Given the description of an element on the screen output the (x, y) to click on. 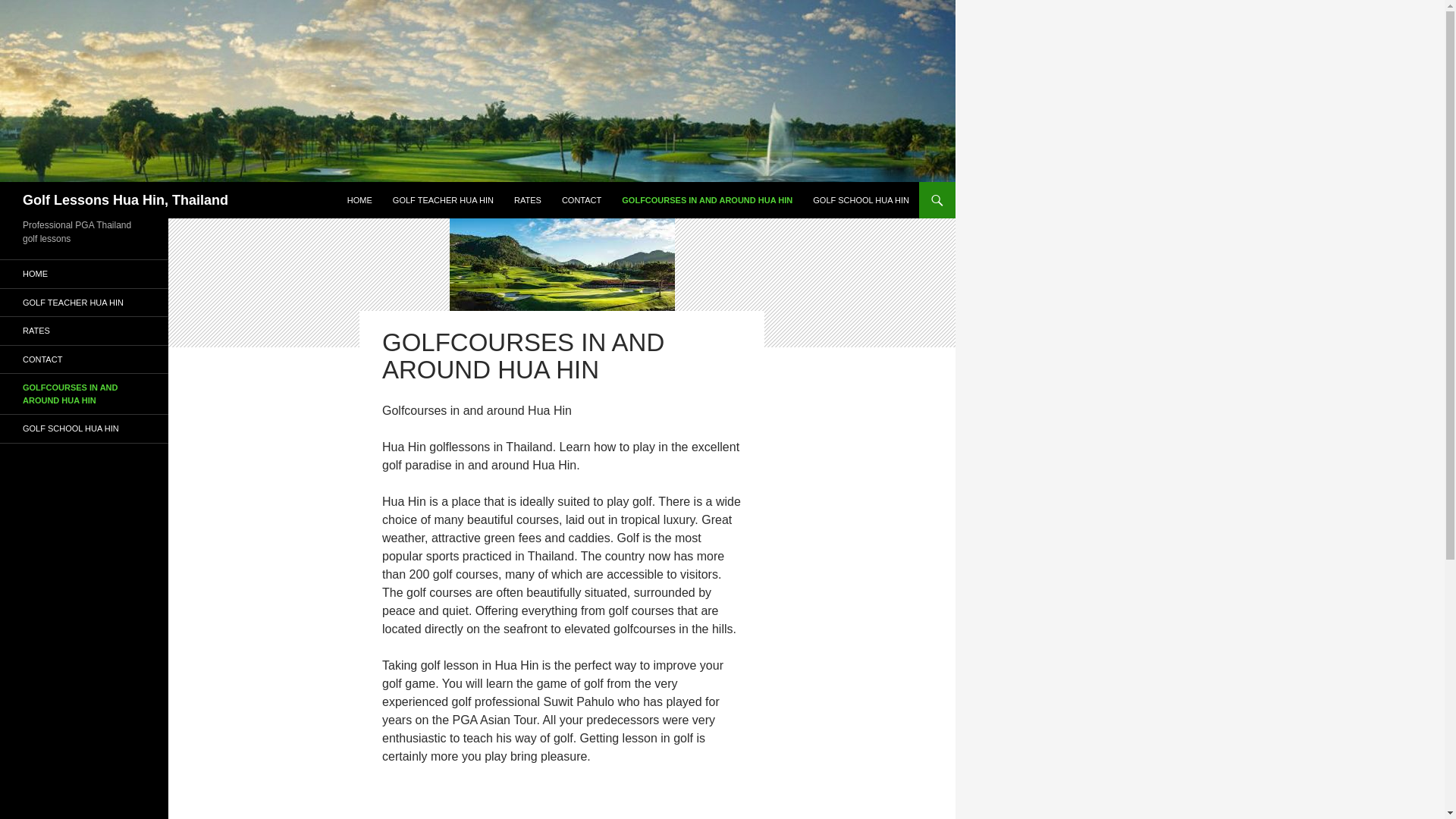
GOLF SCHOOL HUA HIN (84, 428)
GOLF TEACHER HUA HIN (443, 199)
GOLF SCHOOL HUA HIN (860, 199)
Golf Lessons Hua Hin, Thailand (125, 199)
GOLFCOURSES IN AND AROUND HUA HIN (707, 199)
GOLFCOURSES IN AND AROUND HUA HIN (84, 393)
HOME (84, 274)
GOLF TEACHER HUA HIN (84, 302)
CONTACT (581, 199)
RATES (527, 199)
HOME (359, 199)
CONTACT (84, 359)
RATES (84, 330)
